Given the description of an element on the screen output the (x, y) to click on. 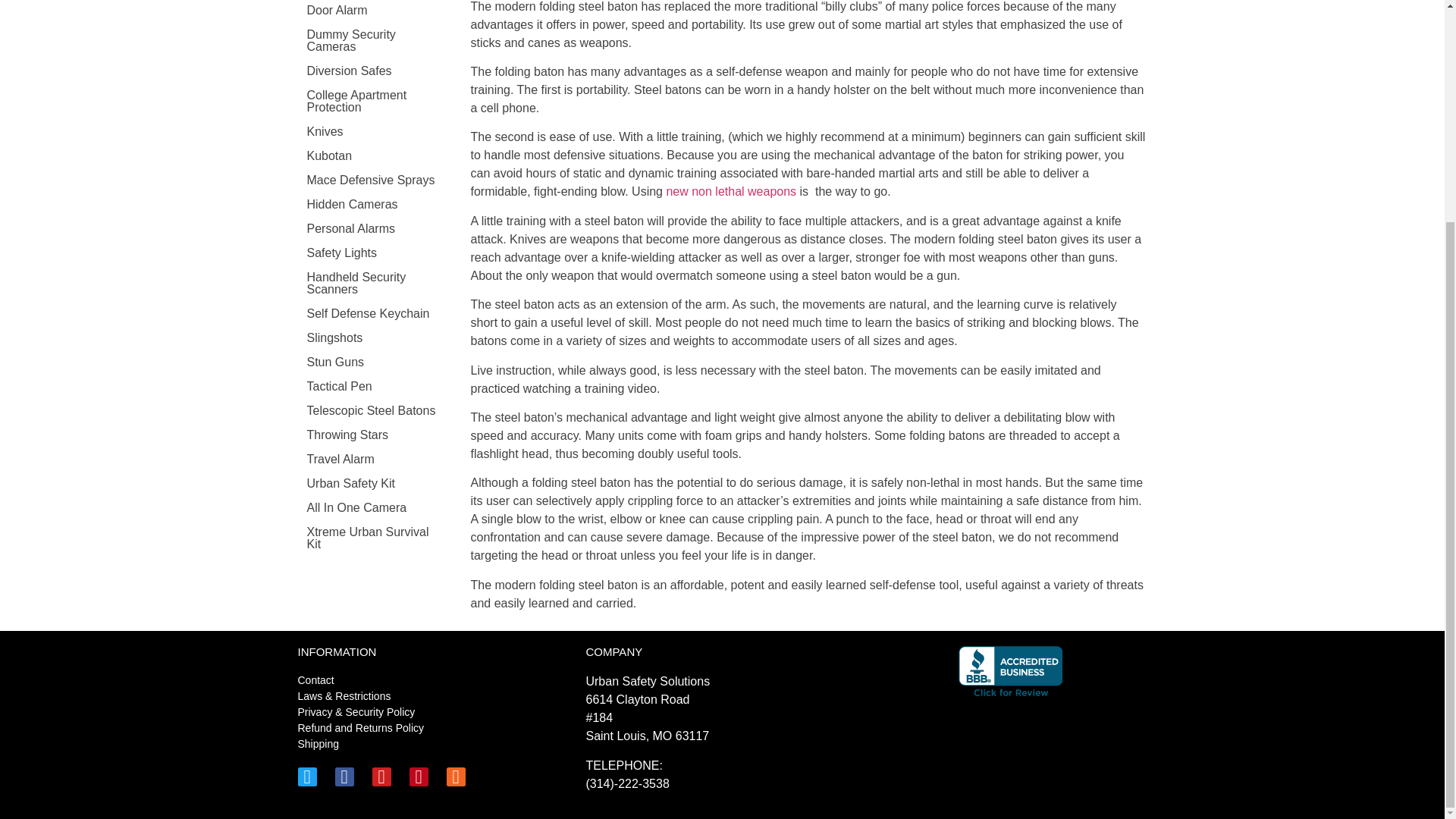
Telescopic Steel Batons (375, 410)
Tactical Pen (375, 386)
Kubotan (375, 156)
Knives (375, 131)
Personal Alarms (375, 228)
Self Defense Keychain (375, 313)
Stun Guns (375, 362)
Handheld Security Scanners (375, 283)
Mace Defensive Sprays (375, 180)
Hidden Cameras (375, 204)
